Given the description of an element on the screen output the (x, y) to click on. 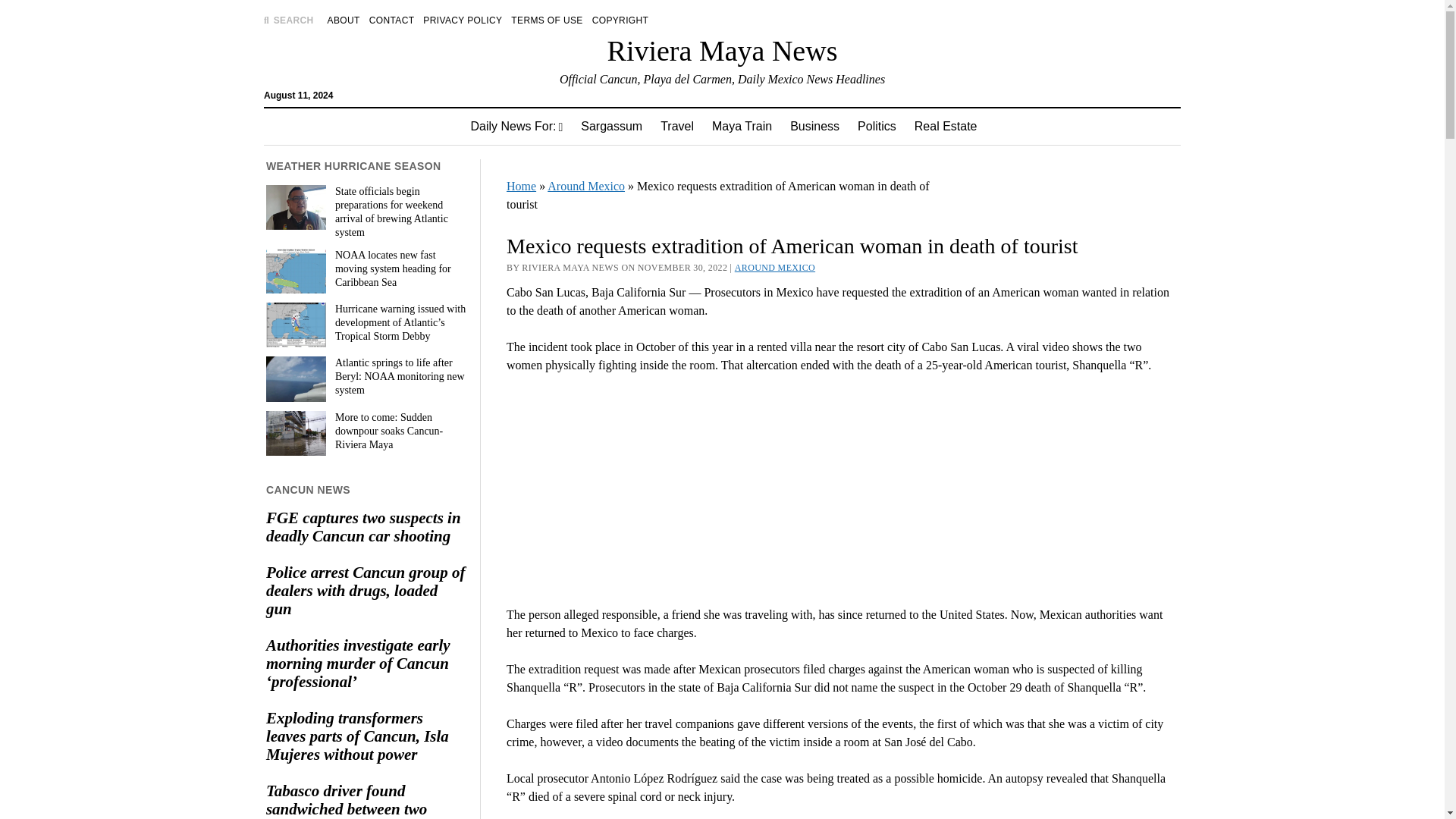
COPYRIGHT (620, 20)
Riviera Maya News (722, 50)
Search (945, 129)
Sargassum (611, 126)
Business (814, 126)
Maya Train (741, 126)
TERMS OF USE (546, 20)
ABOUT (343, 20)
View all posts in Around Mexico (775, 267)
Daily News For: (516, 126)
